Given the description of an element on the screen output the (x, y) to click on. 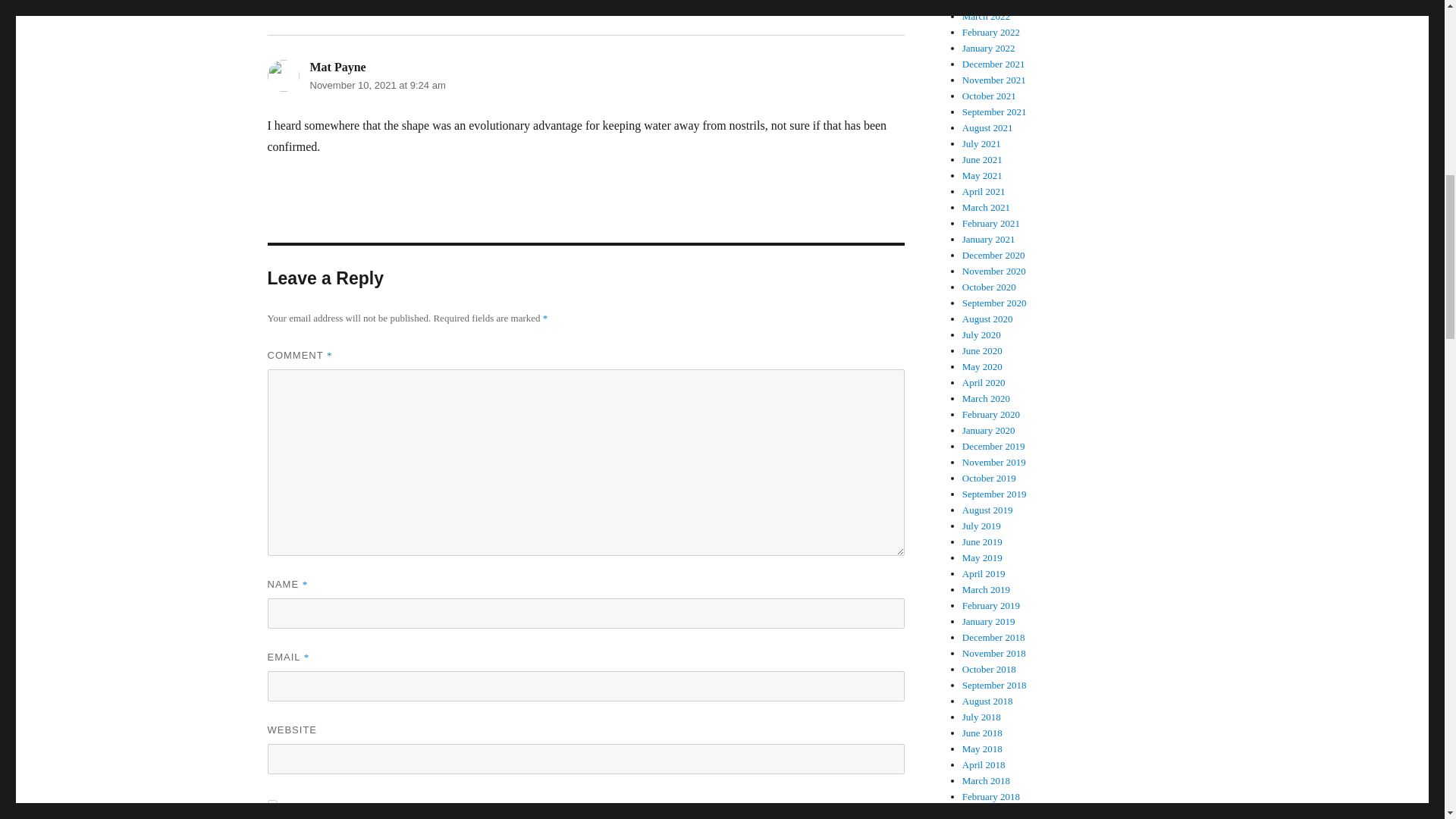
April 2022 (984, 2)
November 10, 2021 at 9:24 am (376, 84)
yes (271, 804)
February 2022 (991, 31)
March 2022 (986, 16)
